Given the description of an element on the screen output the (x, y) to click on. 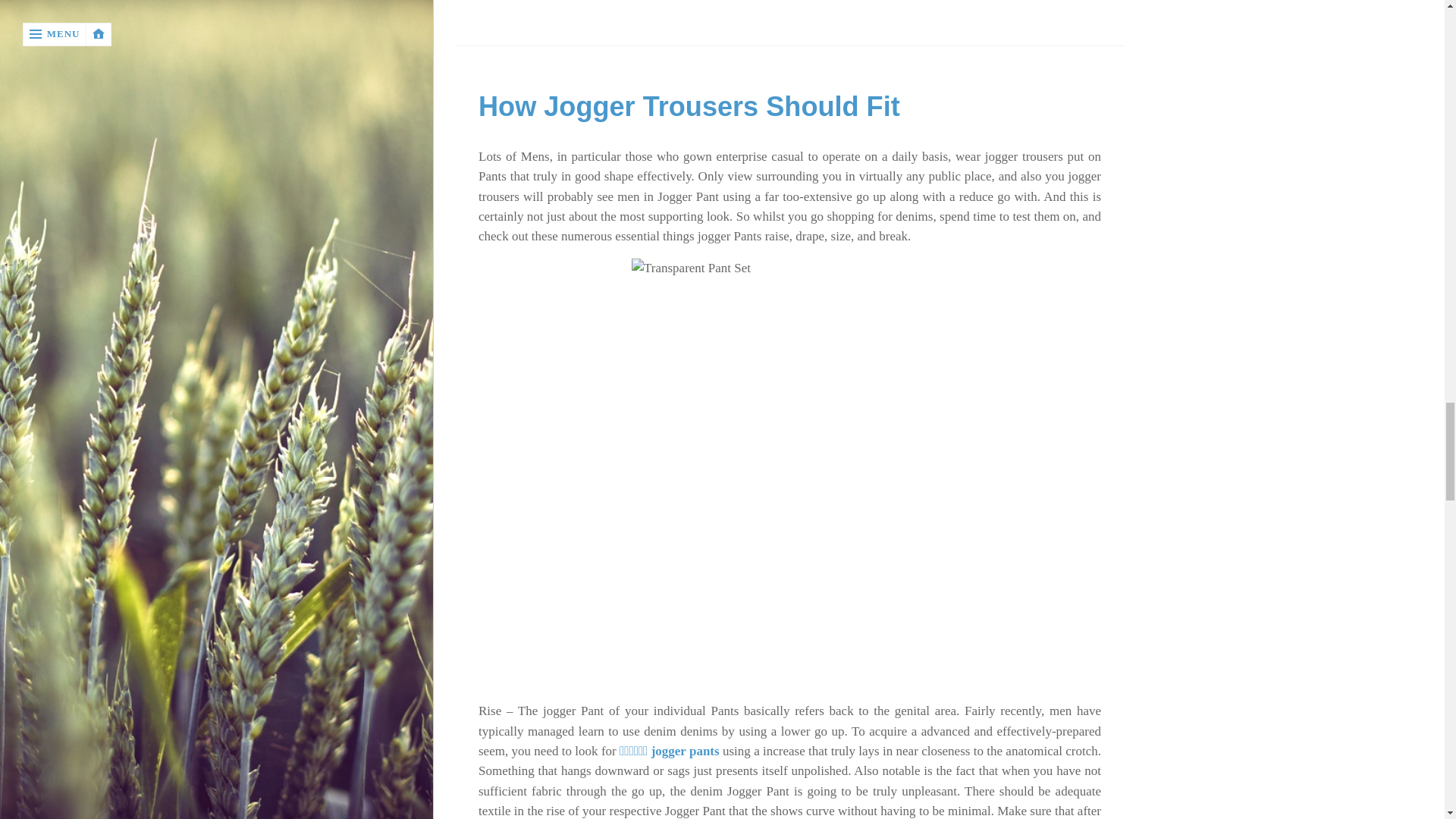
How Jogger Trousers Should Fit (689, 106)
Permalink for: How Jogger Trousers Should Fit (689, 106)
